Given the description of an element on the screen output the (x, y) to click on. 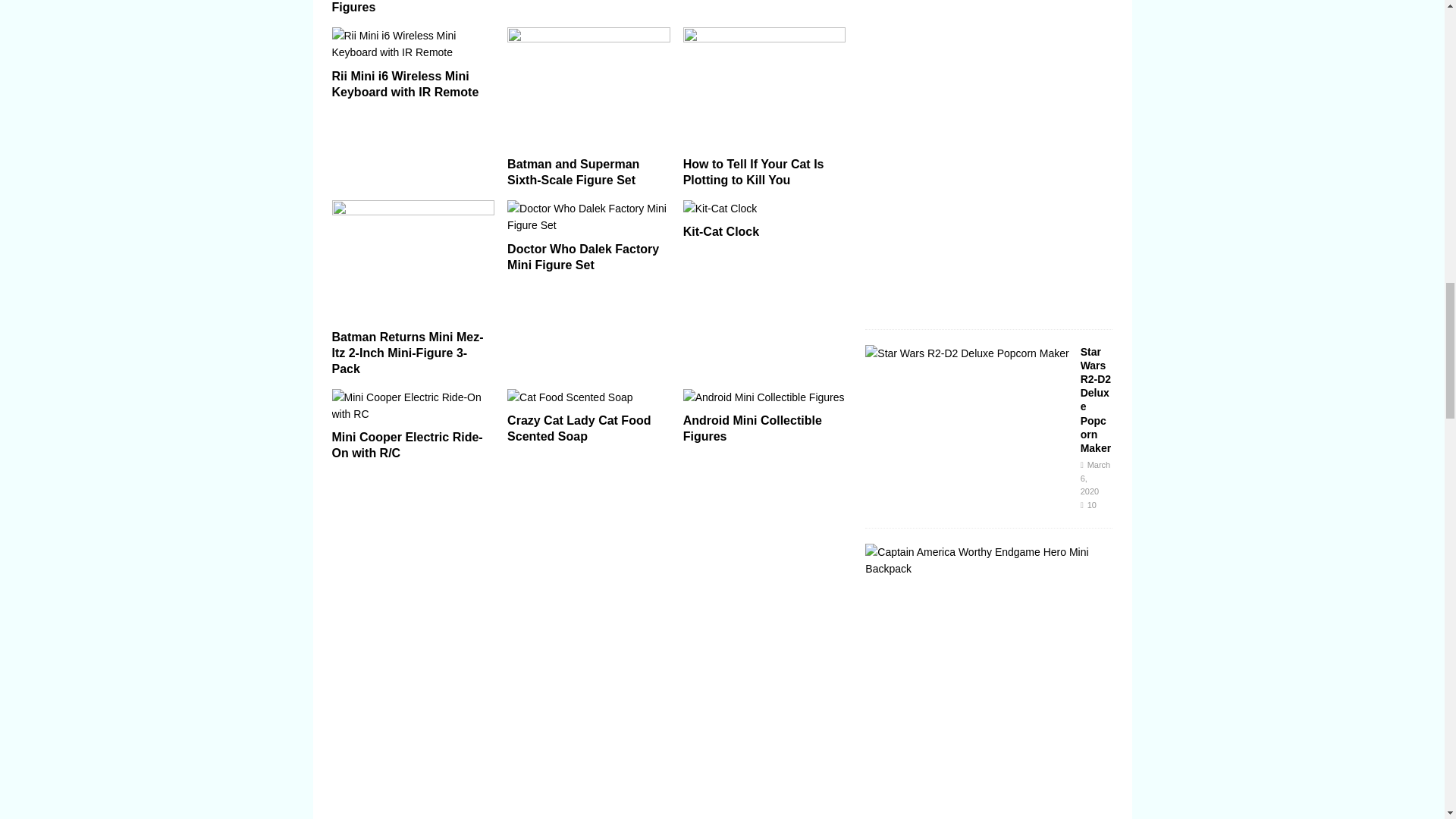
Futurama Collectible Mini Figures (405, 6)
